Given the description of an element on the screen output the (x, y) to click on. 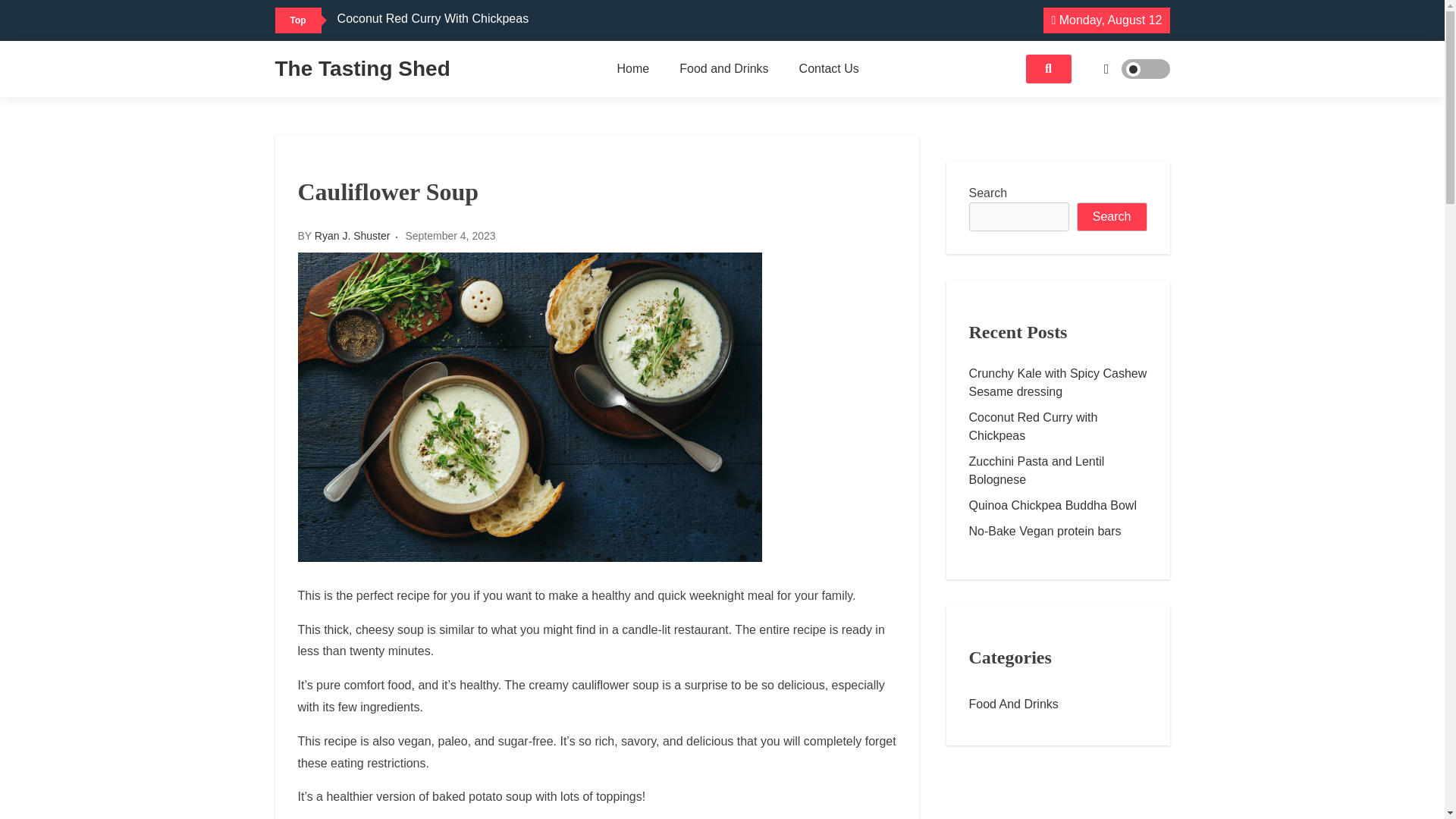
Contact Us (829, 68)
Home (633, 68)
Search (1112, 216)
Coconut Red Curry With Chickpeas (433, 18)
Food And Drinks (1058, 704)
September 4, 2023 (449, 235)
Zucchini Pasta And Lentil Bolognese (435, 39)
The Tasting Shed (362, 68)
Quinoa Chickpea Buddha Bowl (1058, 505)
Zucchini Pasta and Lentil Bolognese (1058, 470)
